Given the description of an element on the screen output the (x, y) to click on. 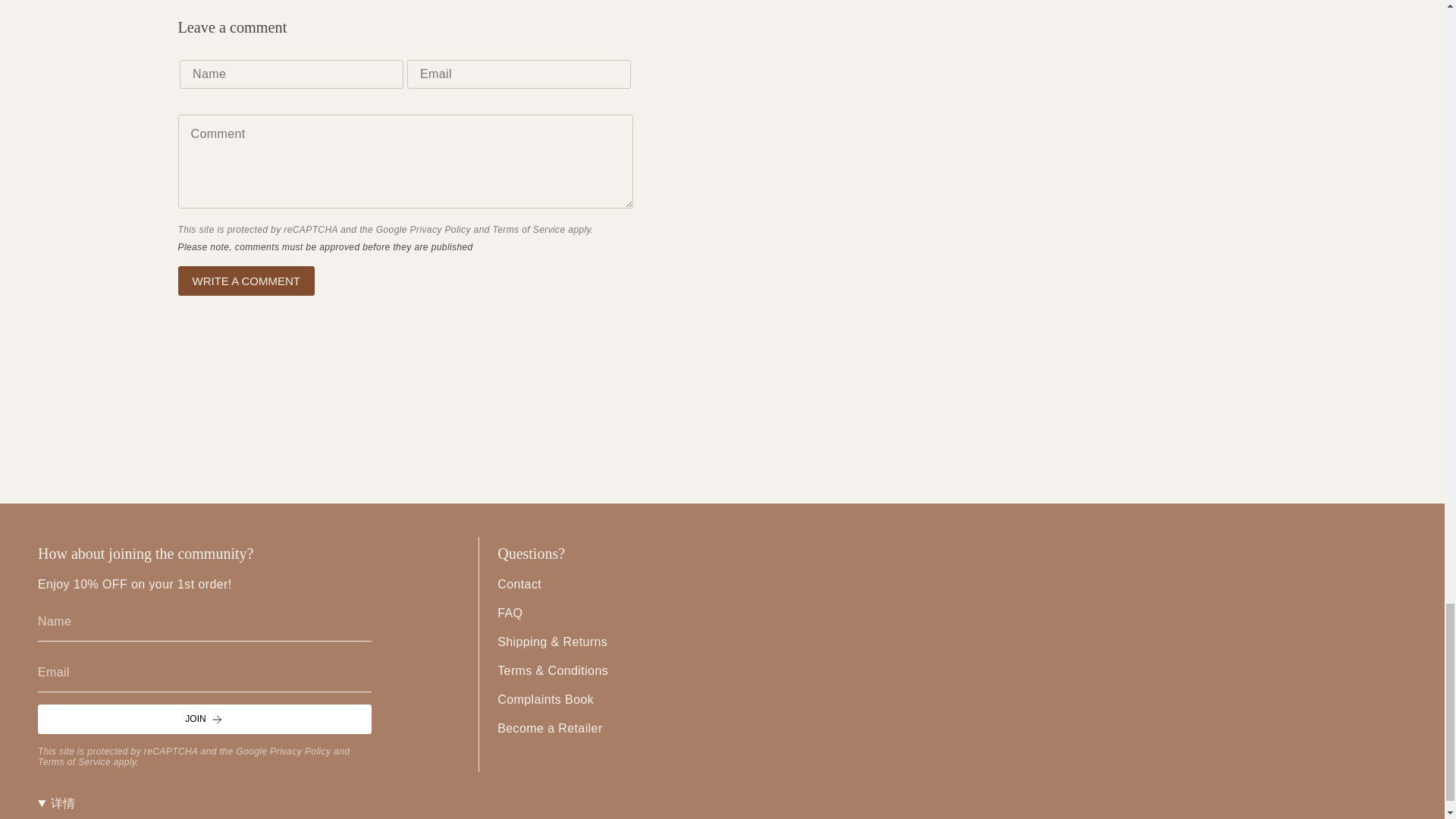
Write a comment (245, 280)
